Given the description of an element on the screen output the (x, y) to click on. 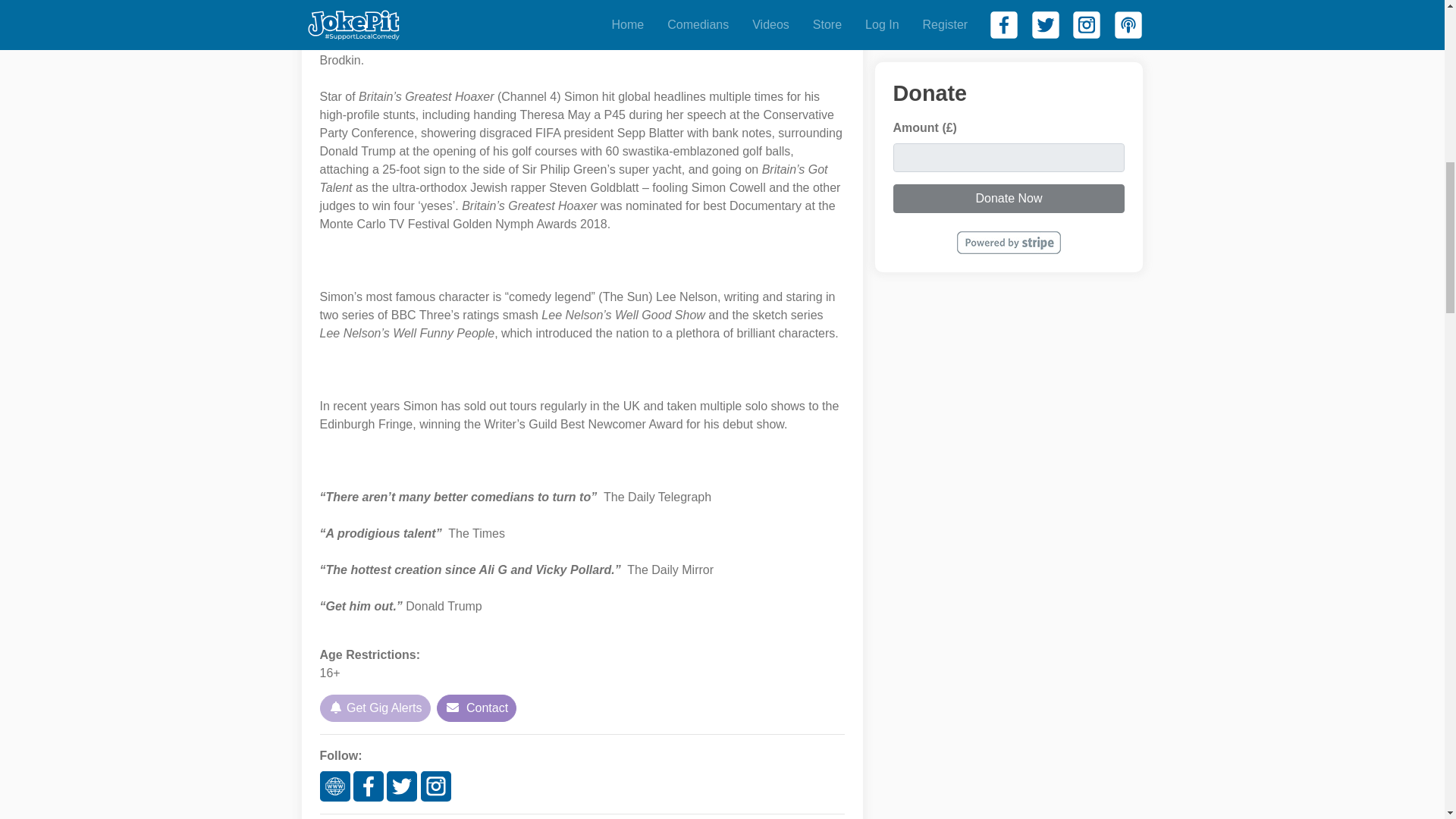
Get Gig Alerts (375, 707)
Tweet (336, 2)
Copy event details (411, 0)
Contact (476, 707)
